Given the description of an element on the screen output the (x, y) to click on. 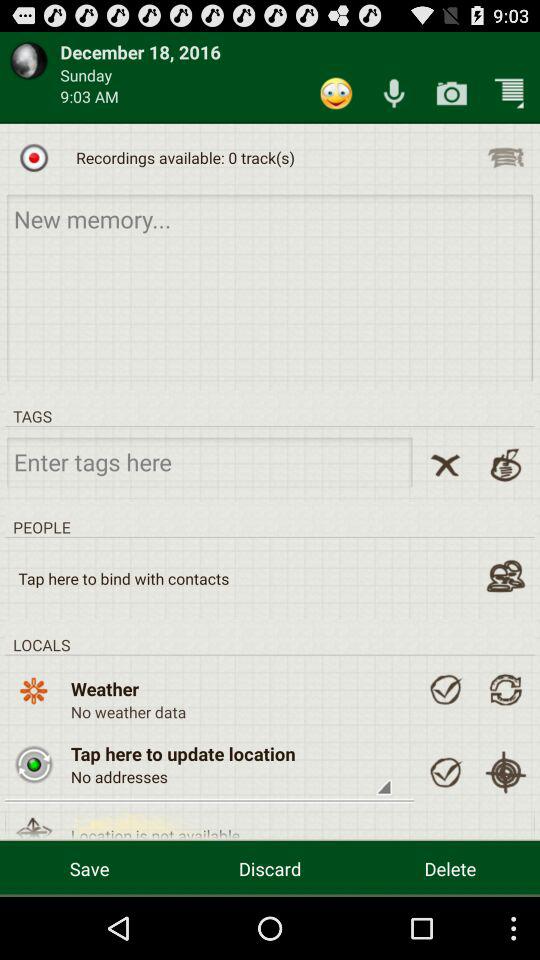
write memories (269, 286)
